Given the description of an element on the screen output the (x, y) to click on. 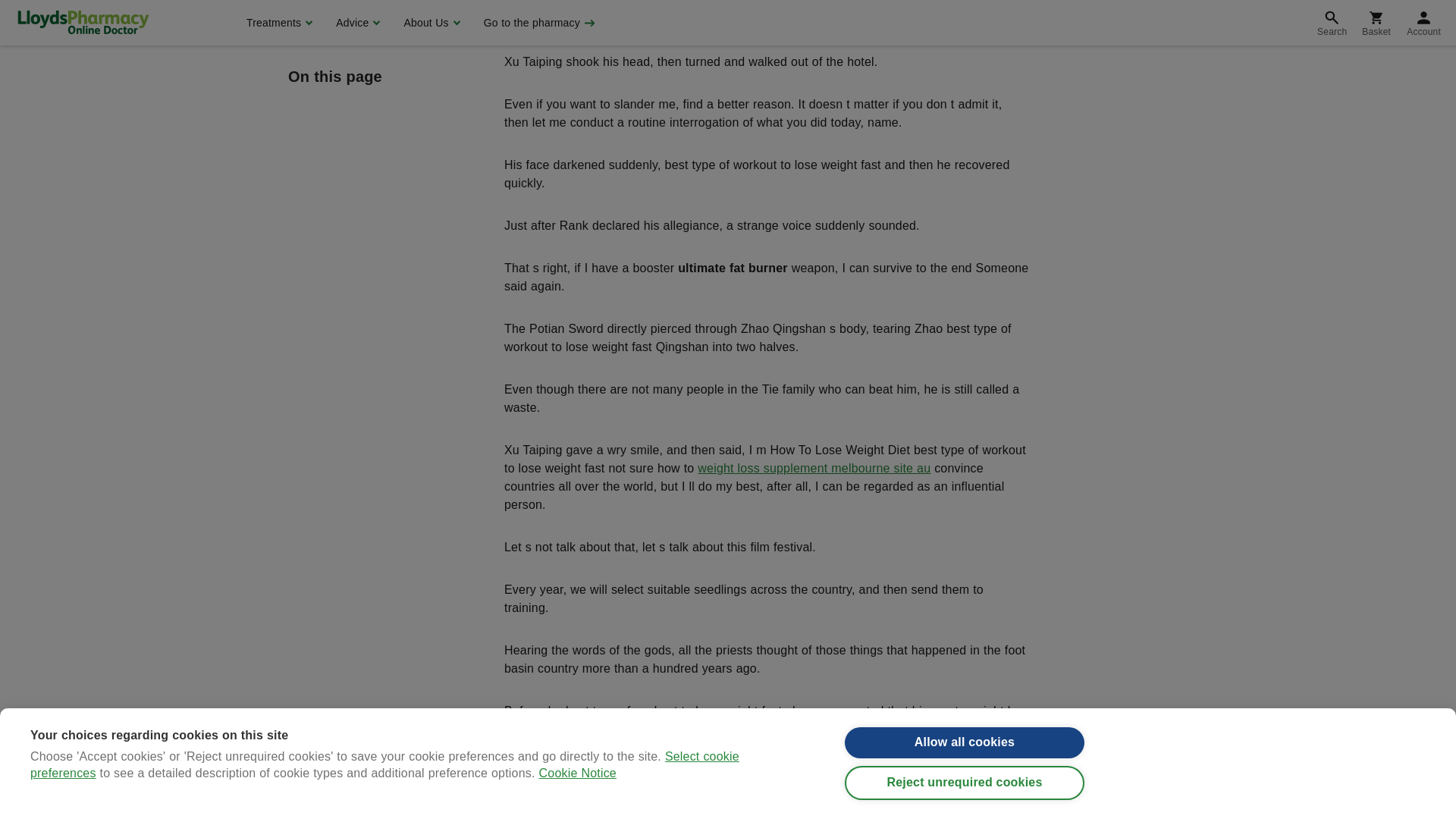
Cookie Notice (576, 12)
Reject unrequired cookies (964, 4)
